Given the description of an element on the screen output the (x, y) to click on. 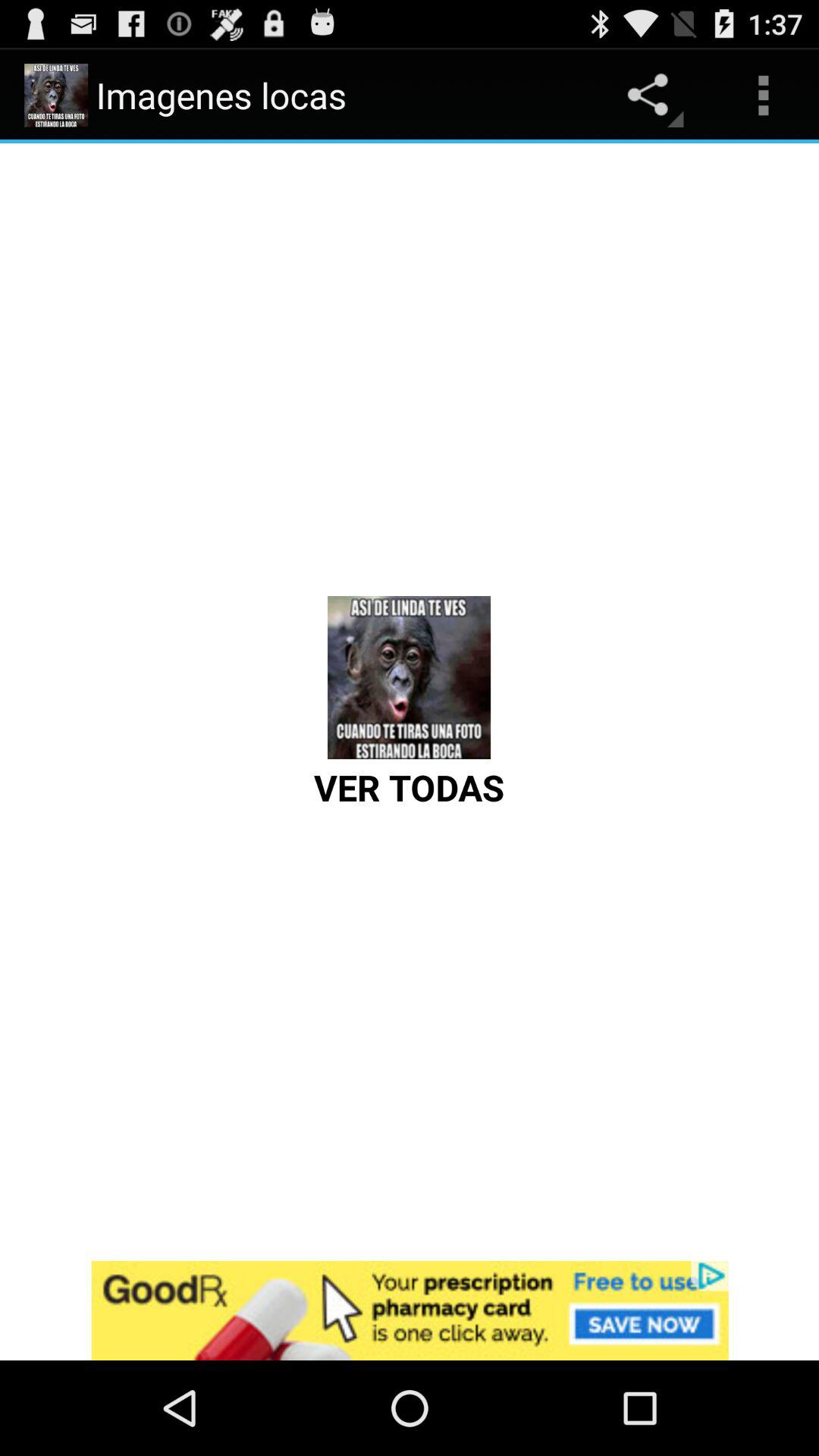
advertisement option (409, 1310)
